Given the description of an element on the screen output the (x, y) to click on. 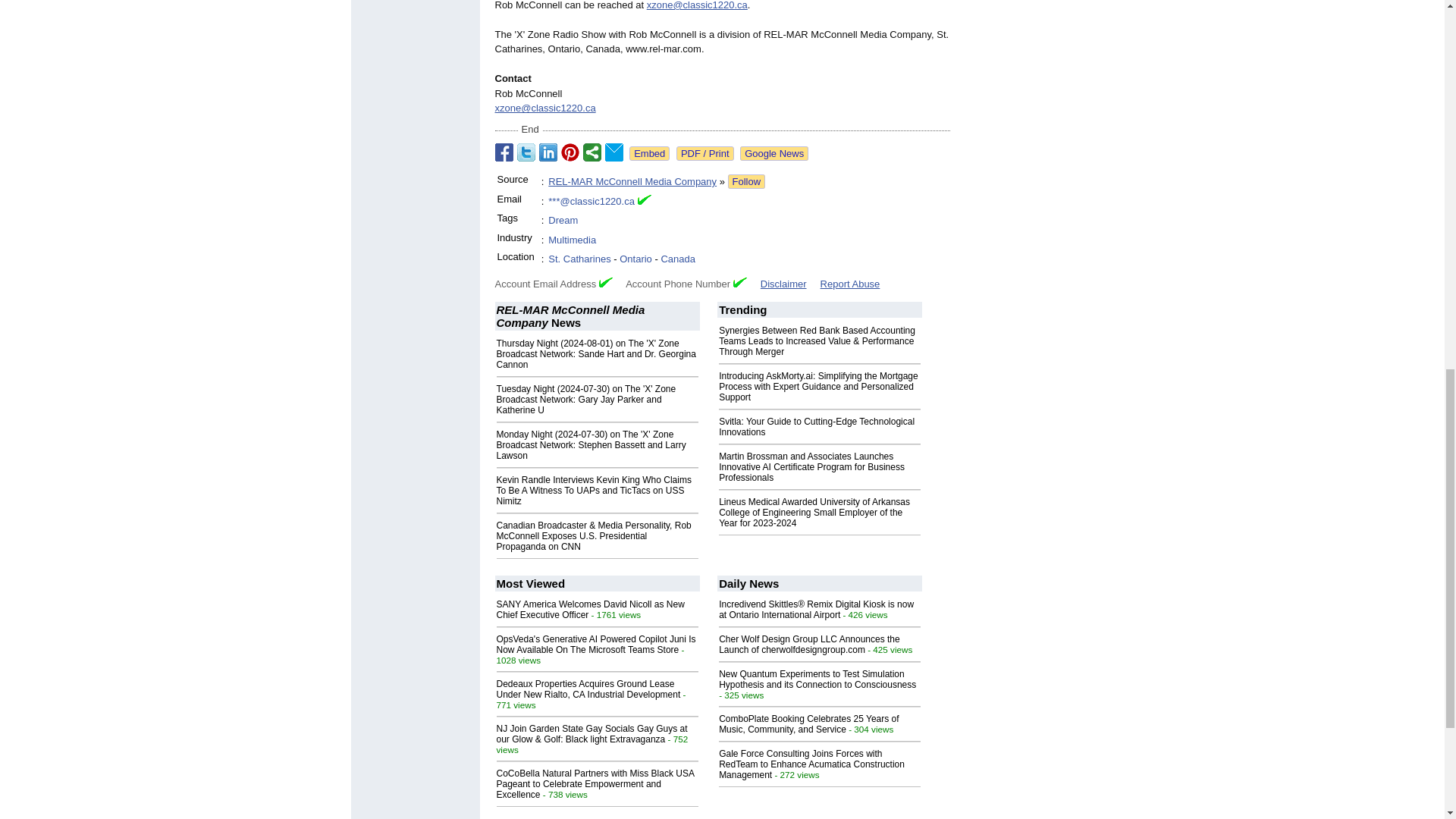
See or print the PDF version! (705, 153)
Verified (605, 282)
Embed (648, 153)
Email Verified (643, 201)
Verified (739, 282)
Embed this press release in your website! (648, 153)
Share on LinkedIn (547, 152)
Email to a Friend (614, 152)
Share on Pinterest (569, 152)
Share on StumbleUpon, Digg, etc (590, 152)
Share on Twitter (525, 152)
Share on Facebook (503, 152)
